Given the description of an element on the screen output the (x, y) to click on. 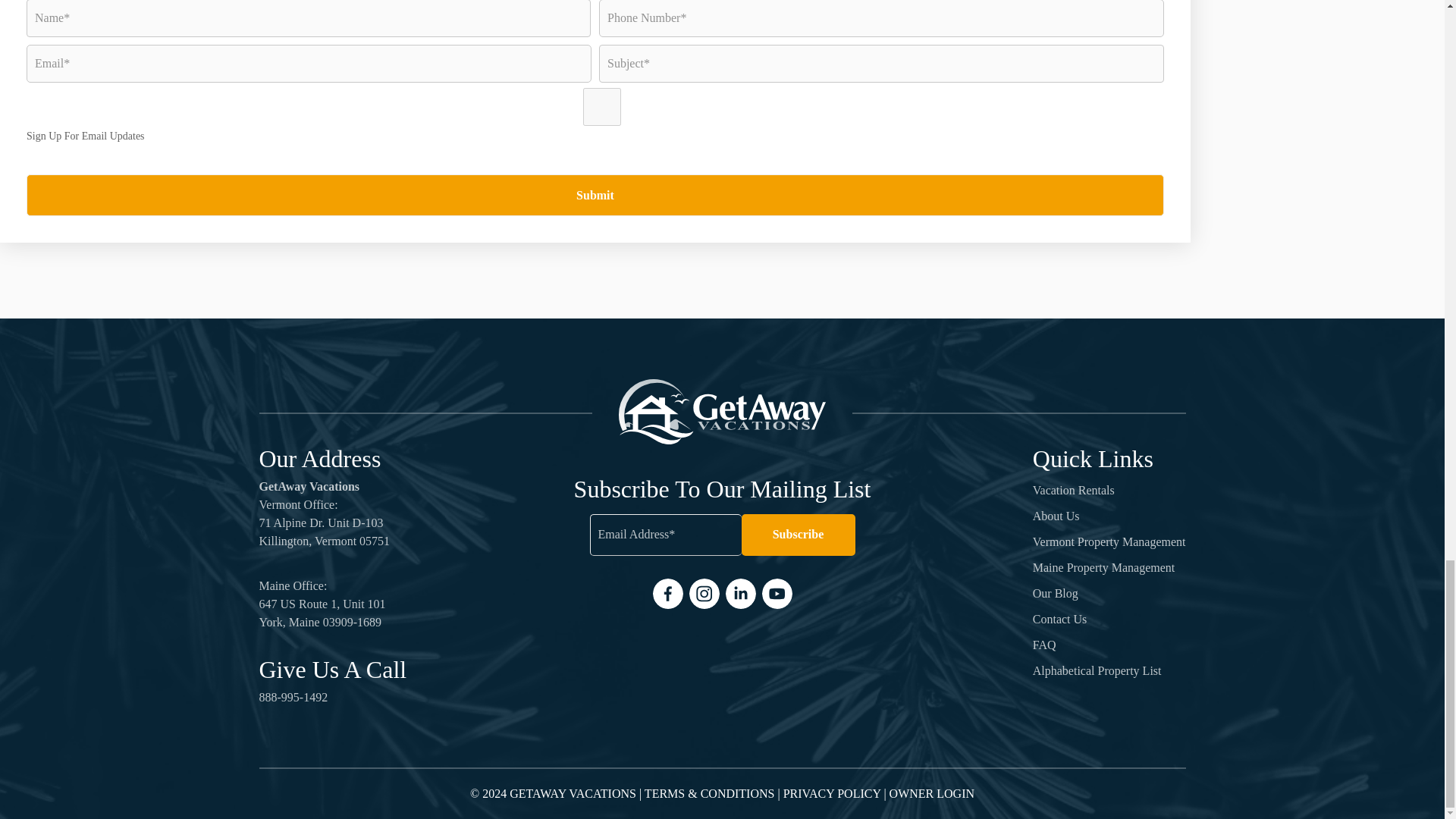
Killington, VT Vacation Rentals by GetAway Vacations Logo (721, 411)
Sign Up For Email Updates (601, 106)
Subscribe (798, 535)
Submit (594, 195)
